Given the description of an element on the screen output the (x, y) to click on. 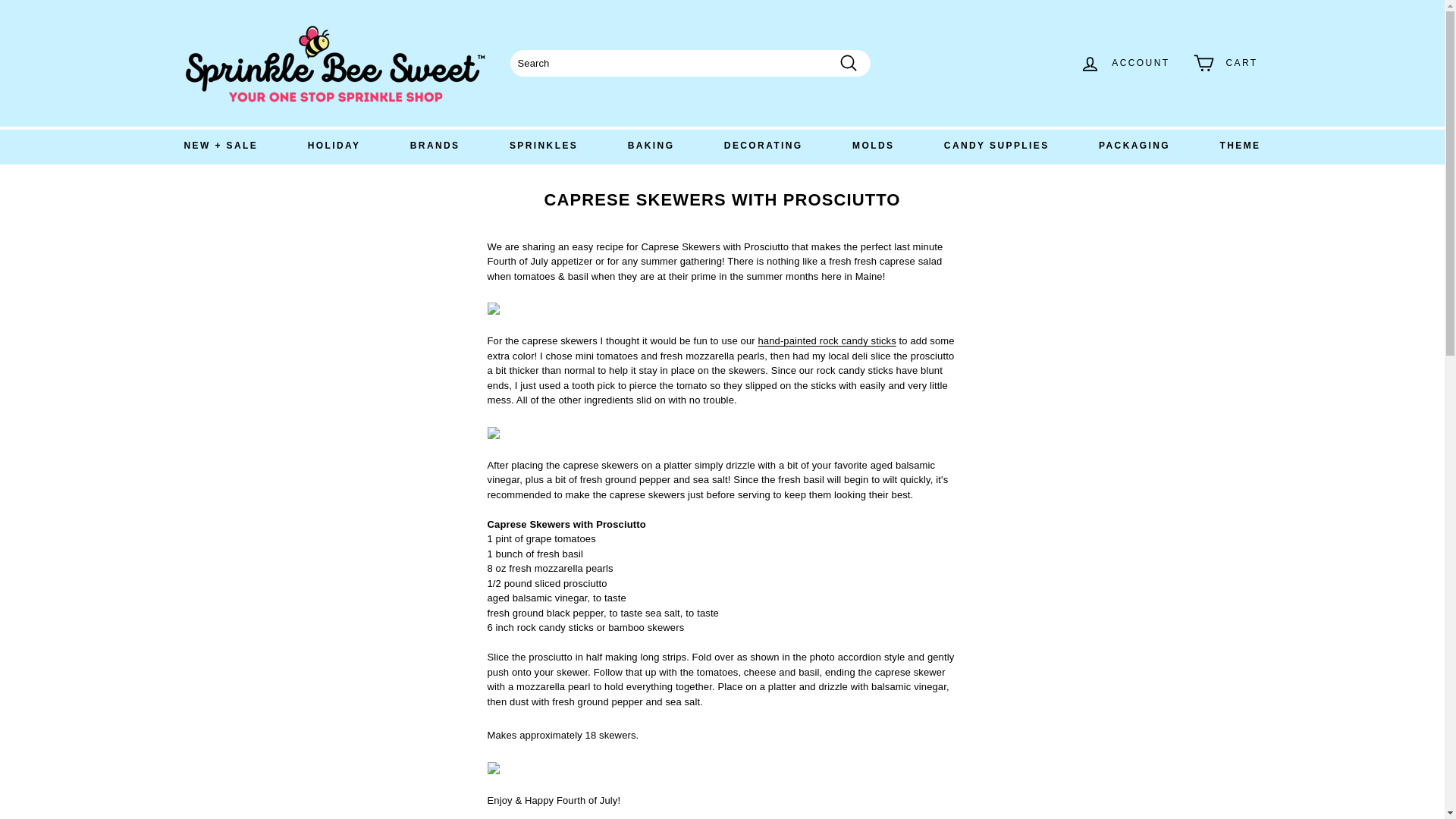
hand-painted rock candy sticks (826, 340)
HOLIDAY (333, 145)
ACCOUNT (1123, 62)
